Given the description of an element on the screen output the (x, y) to click on. 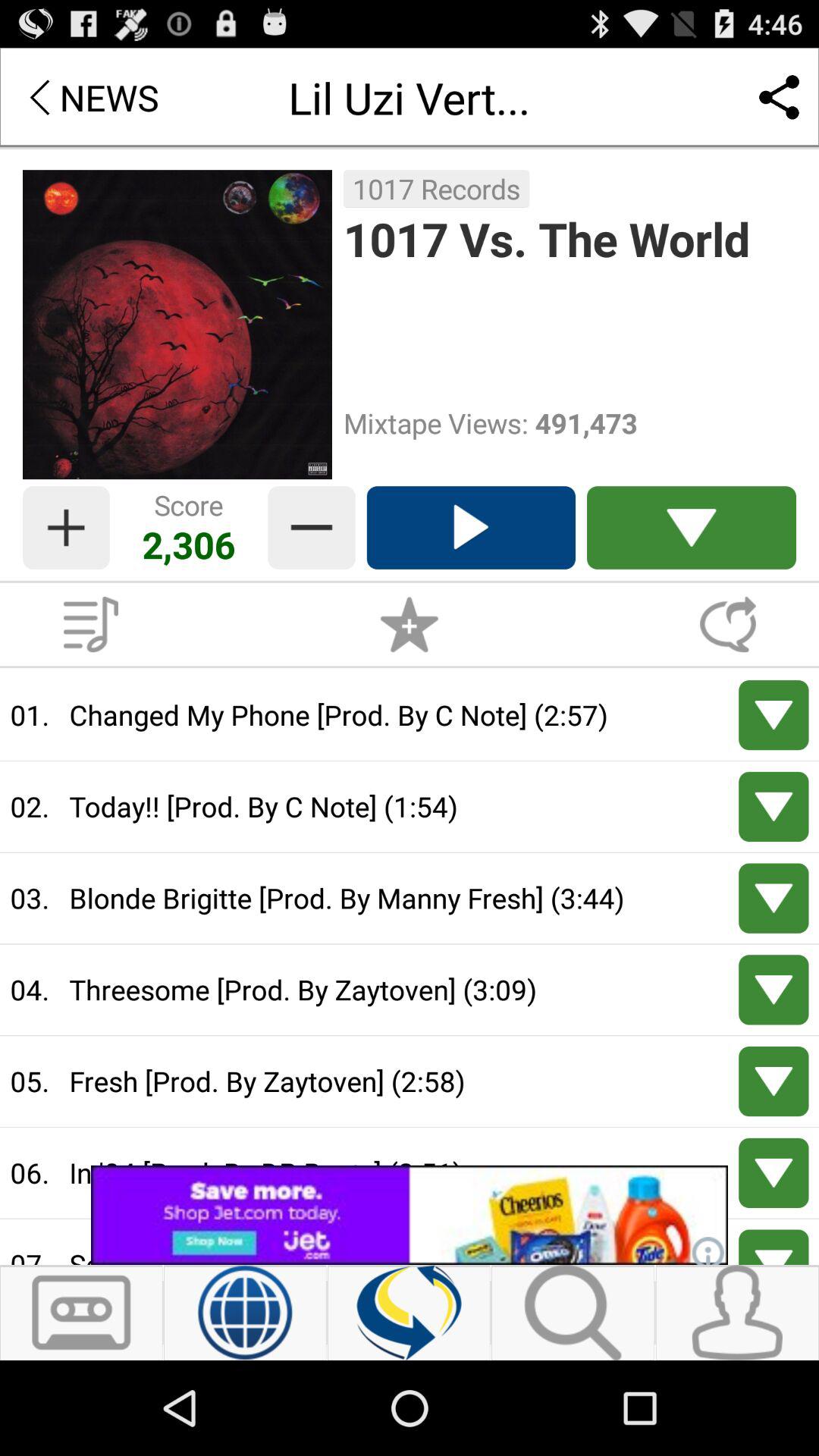
arrow down for next (773, 1173)
